Given the description of an element on the screen output the (x, y) to click on. 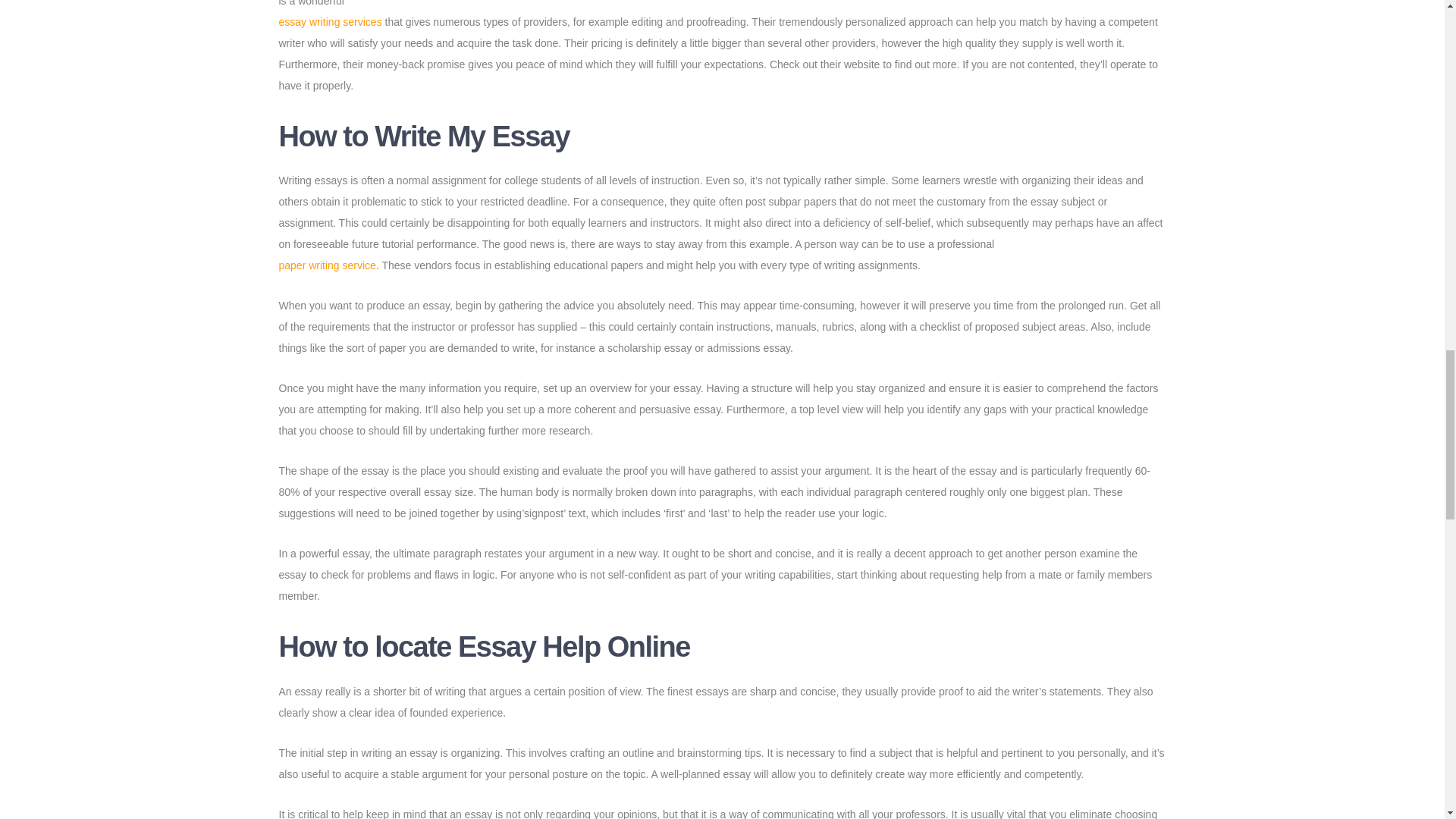
paper writing service (327, 265)
essay writing services (330, 21)
